Given the description of an element on the screen output the (x, y) to click on. 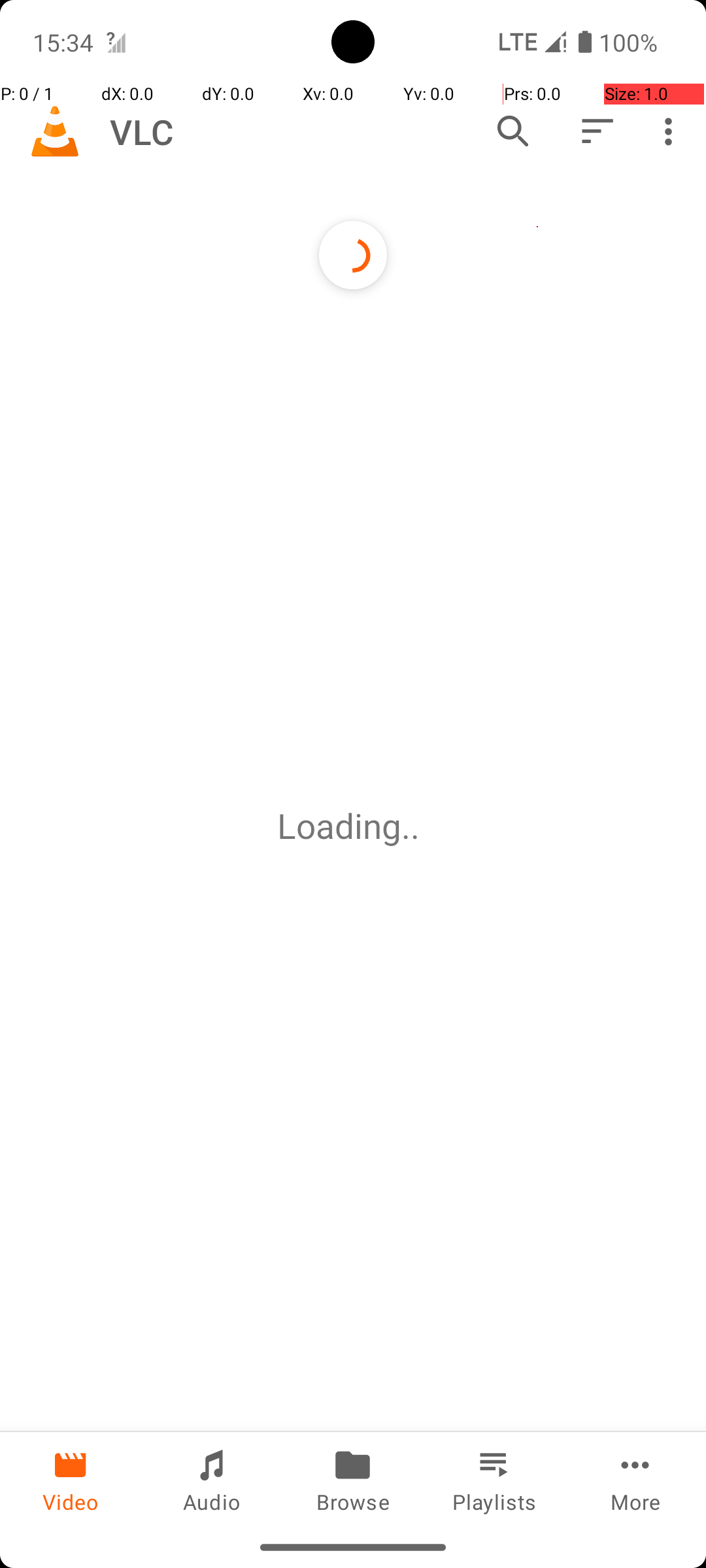
.. Element type: android.widget.TextView (414, 825)
